Given the description of an element on the screen output the (x, y) to click on. 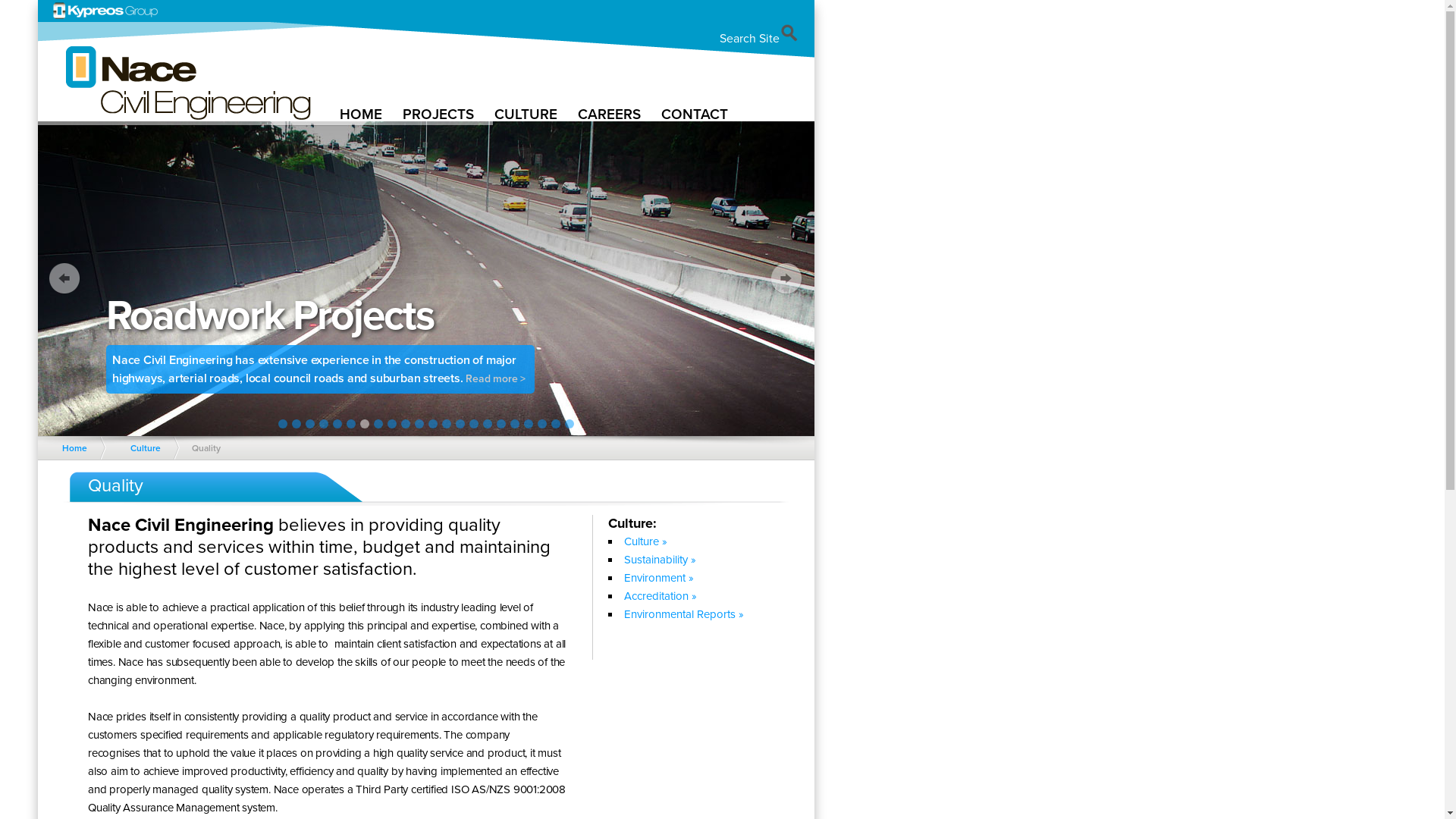
Culture Element type: text (148, 447)
CONTACT Element type: text (695, 113)
CAREERS Element type: text (610, 113)
HOME Element type: text (361, 113)
CULTURE Element type: text (526, 113)
Read more >  Element type: text (533, 389)
Search Site Element type: text (758, 38)
PROJECTS Element type: text (439, 113)
Home Element type: text (78, 447)
